Given the description of an element on the screen output the (x, y) to click on. 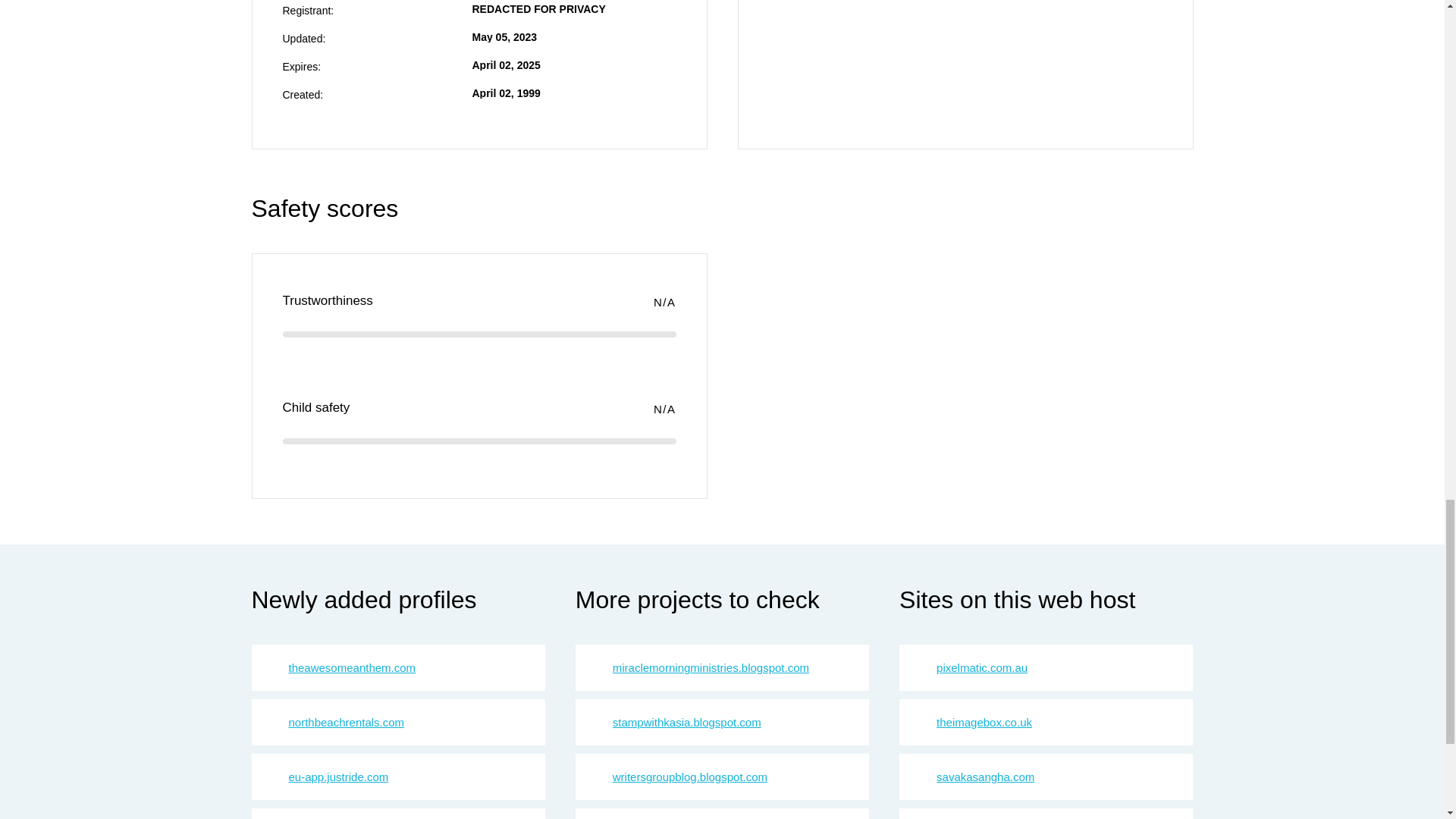
stampwithkasia.blogspot.com (686, 721)
savakasangha.com (984, 776)
miraclemorningministries.blogspot.com (710, 667)
pixelmatic.com.au (981, 667)
eu-app.justride.com (338, 776)
theimagebox.co.uk (984, 721)
theawesomeanthem.com (351, 667)
writersgroupblog.blogspot.com (689, 776)
northbeachrentals.com (346, 721)
